Given the description of an element on the screen output the (x, y) to click on. 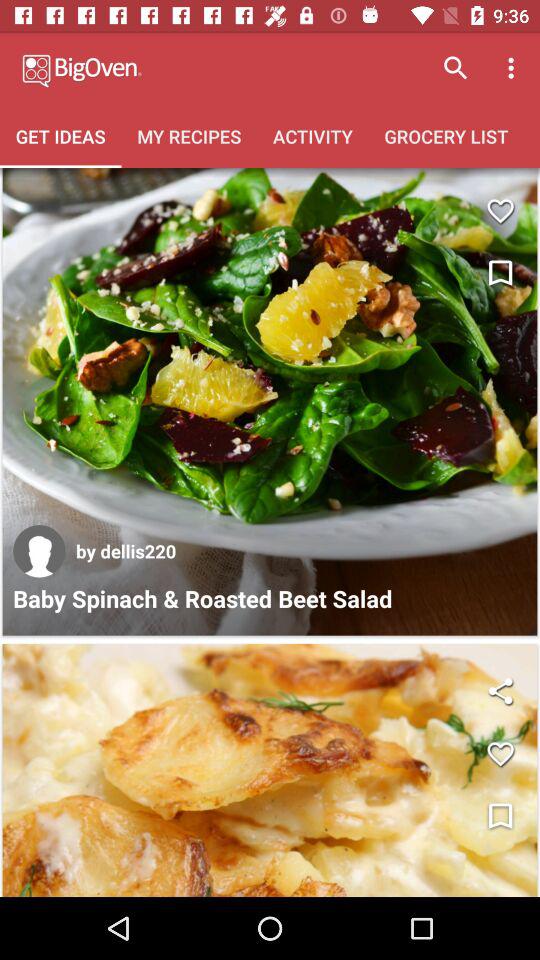
profile icon (39, 551)
